Given the description of an element on the screen output the (x, y) to click on. 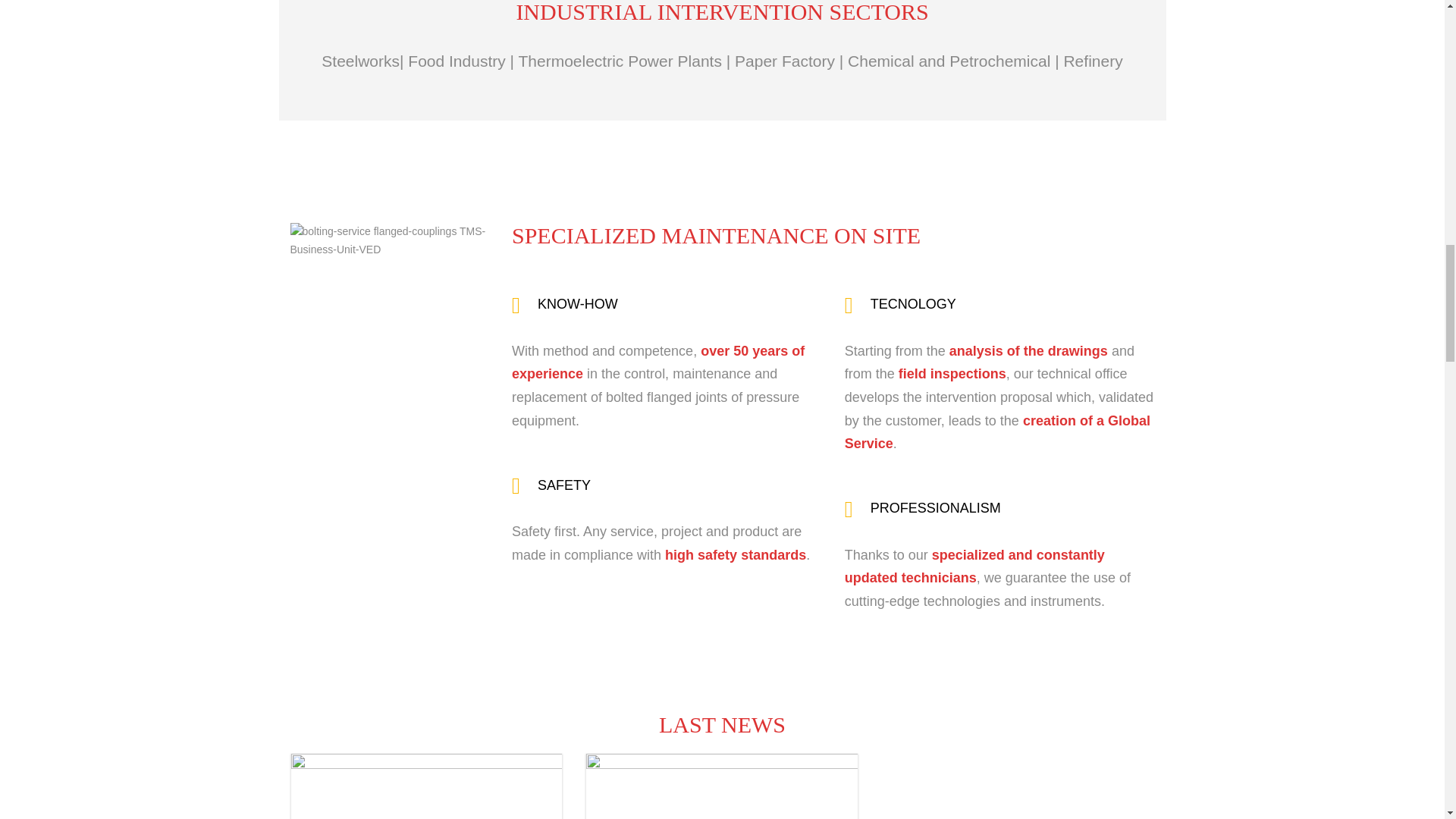
bolting-service flanged-couplings TMS-Business-Unit-VED (389, 240)
